Given the description of an element on the screen output the (x, y) to click on. 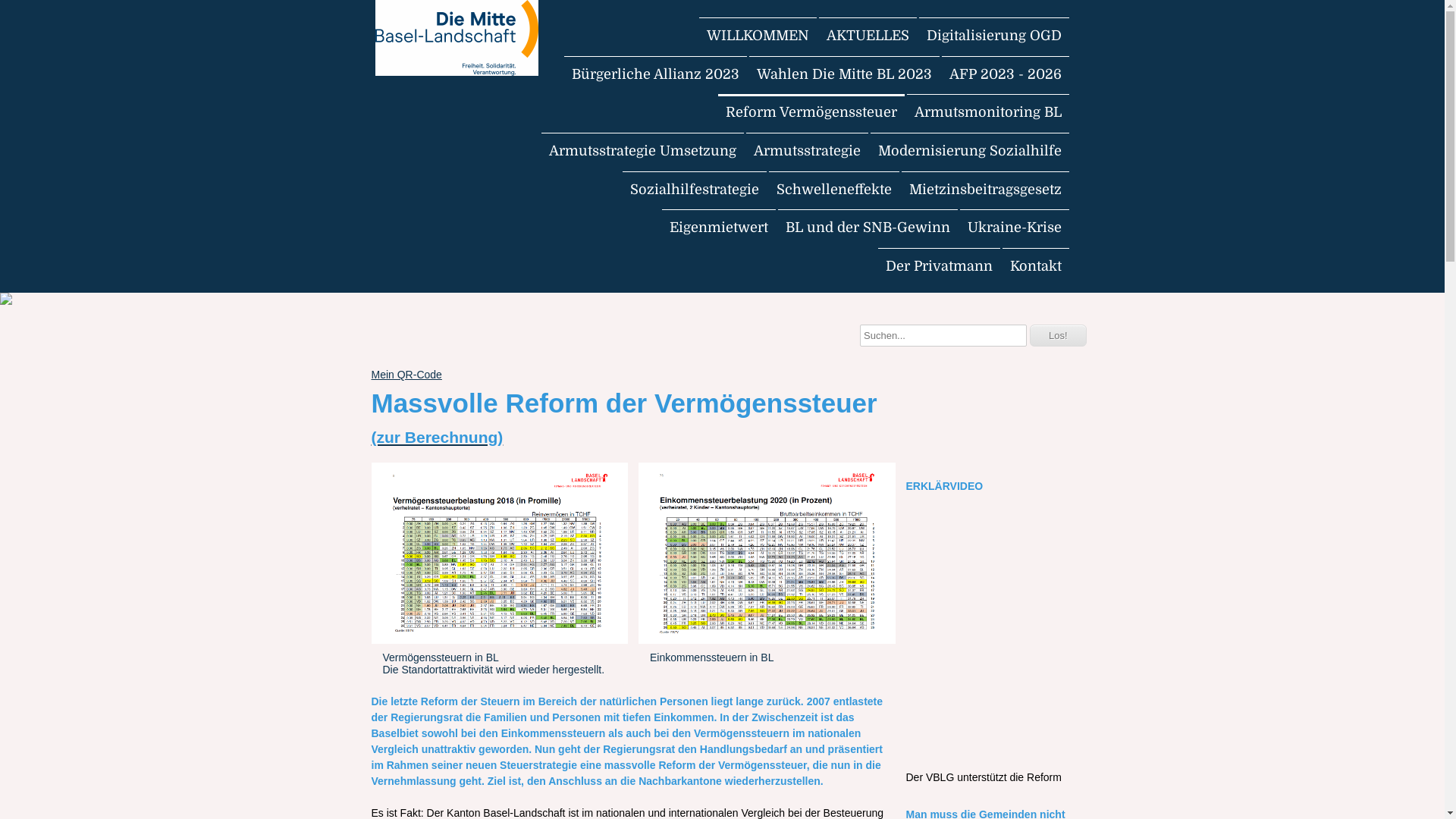
AKTUELLES Element type: text (867, 35)
Eigenmietwert Element type: text (718, 227)
Digitalisierung OGD Element type: text (994, 35)
Schwelleneffekte Element type: text (833, 189)
Einkommenssteuern in BL Element type: text (766, 566)
Modernisierung Sozialhilfe Element type: text (969, 150)
Armutsstrategie Umsetzung Element type: text (642, 150)
Armutsmonitoring BL Element type: text (987, 111)
Los! Element type: text (1057, 335)
Sozialhilfestrategie Element type: text (693, 189)
AFP 2023 - 2026 Element type: text (1005, 73)
Der Privatmann Element type: text (939, 265)
Ukraine-Krise Element type: text (1014, 227)
WILLKOMMEN Element type: text (757, 35)
Armutsstrategie Element type: text (807, 150)
Mein QR-Code Element type: text (406, 374)
Wahlen Die Mitte BL 2023 Element type: text (844, 73)
(zur Berechnung) Element type: text (437, 436)
Kontakt Element type: text (1035, 265)
BL und der SNB-Gewinn Element type: text (867, 227)
Mietzinsbeitragsgesetz Element type: text (984, 189)
